Given the description of an element on the screen output the (x, y) to click on. 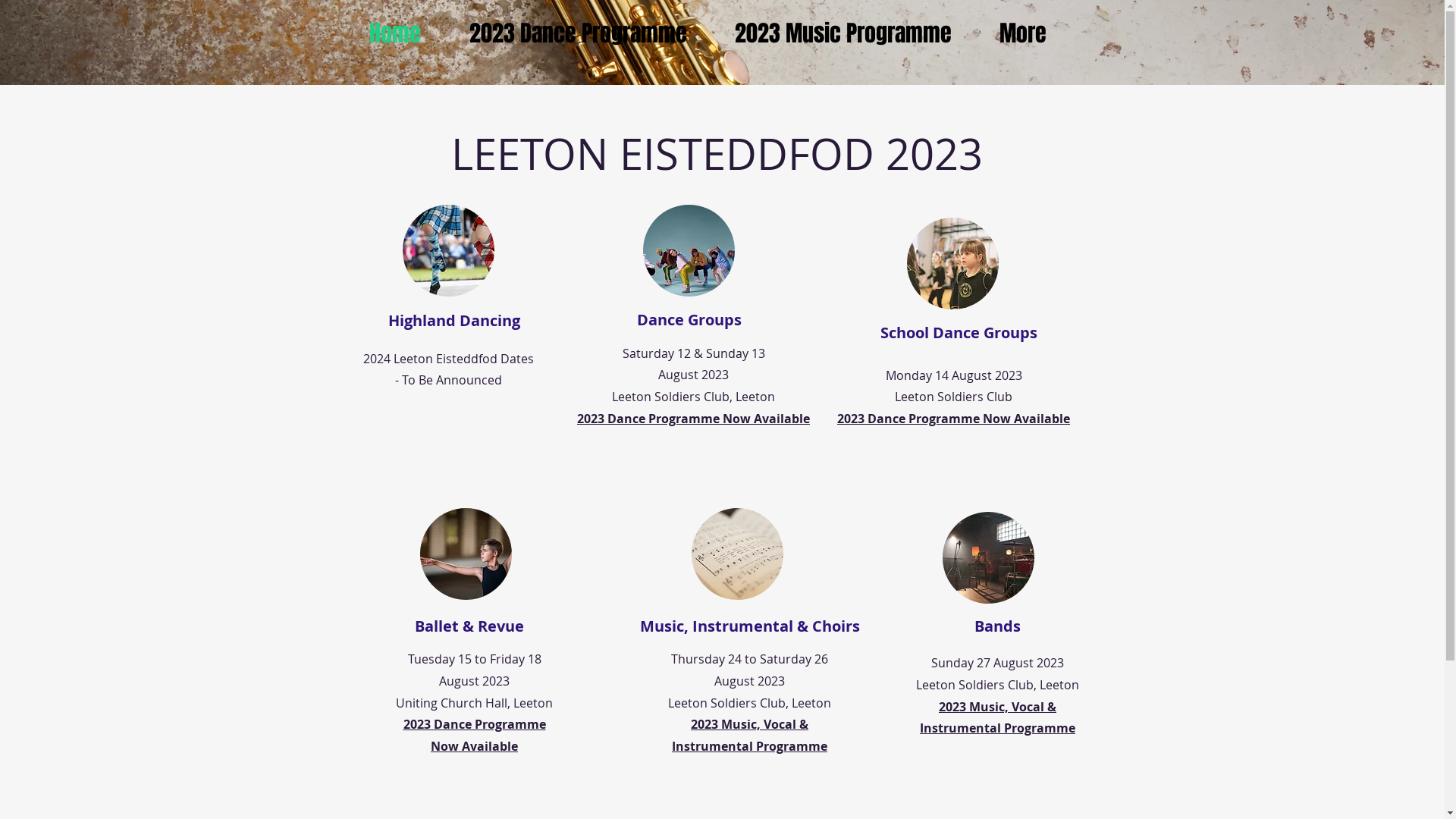
2023 Music, Vocal & Instrumental Programme Element type: text (749, 734)
2023 Dance Programme Now Available Element type: text (693, 418)
2023 Dance Programme Now Available Element type: text (953, 418)
Home Element type: text (407, 33)
2023 Music Programme Element type: text (855, 33)
2023 Music, Vocal & Instrumental Programme Element type: text (997, 717)
2023 Dance Programme Element type: text (590, 33)
2023 Dance Programme Now Available Element type: text (474, 734)
